Given the description of an element on the screen output the (x, y) to click on. 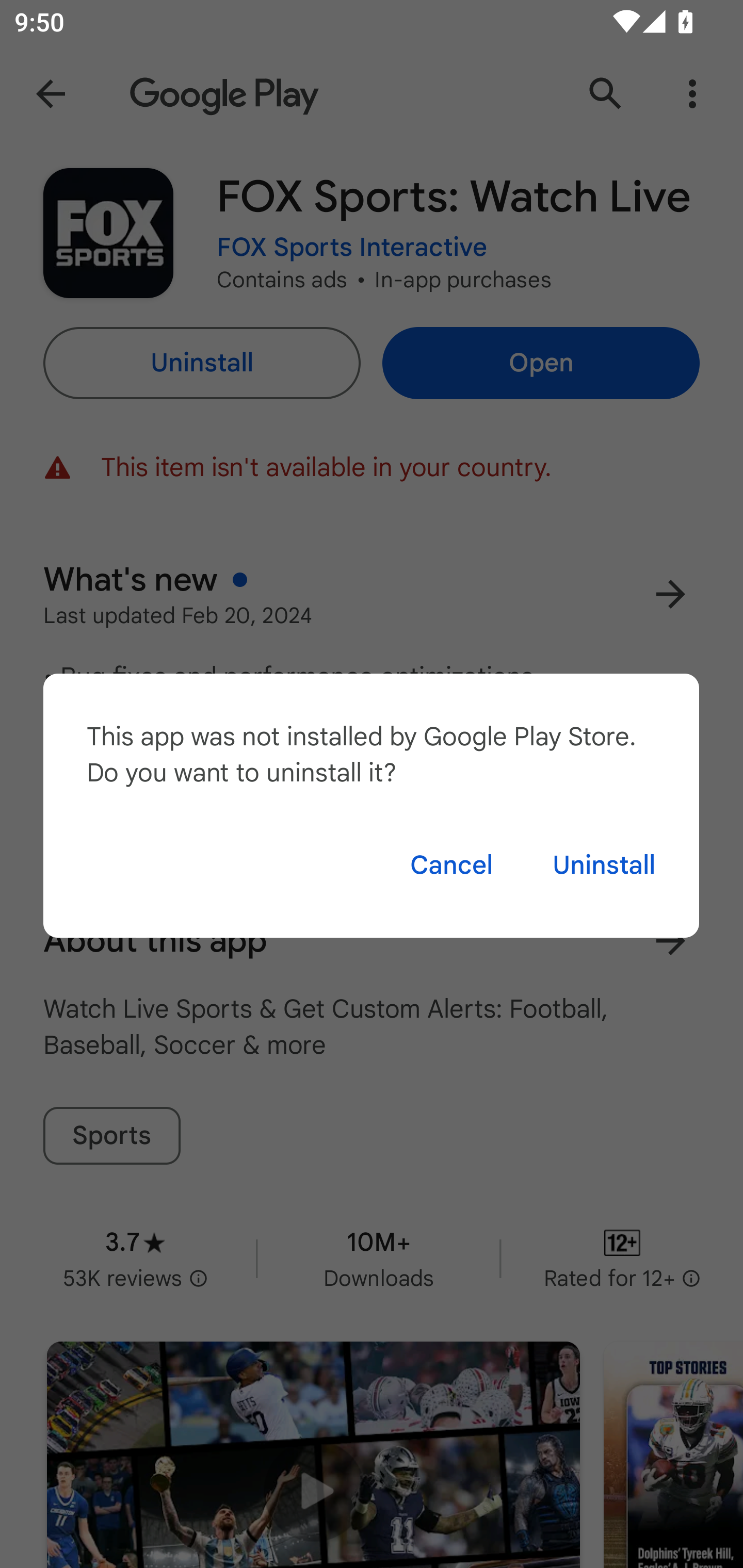
Cancel (450, 865)
Uninstall (604, 865)
